Given the description of an element on the screen output the (x, y) to click on. 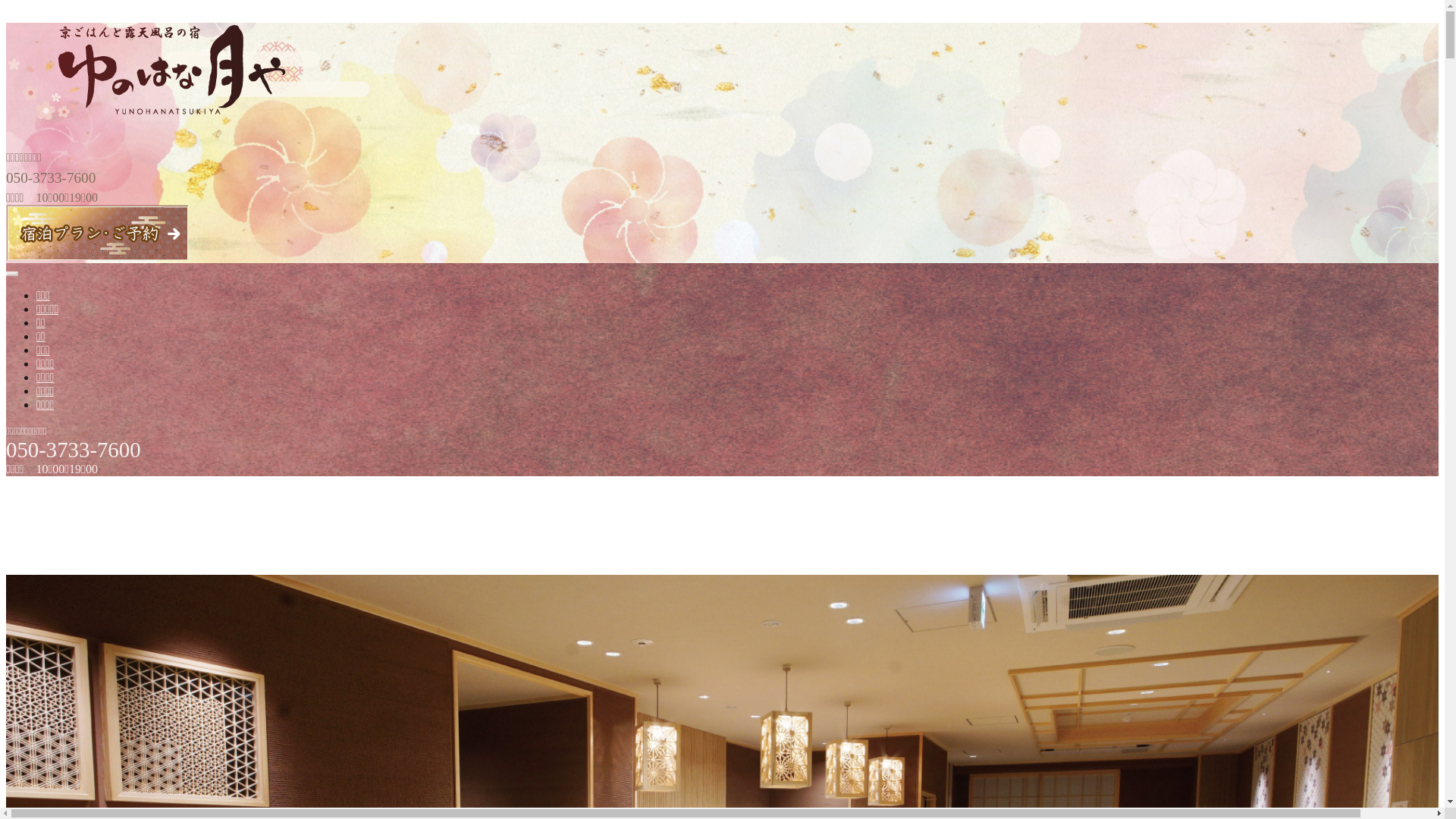
050-3733-7600 Element type: text (73, 452)
